Given the description of an element on the screen output the (x, y) to click on. 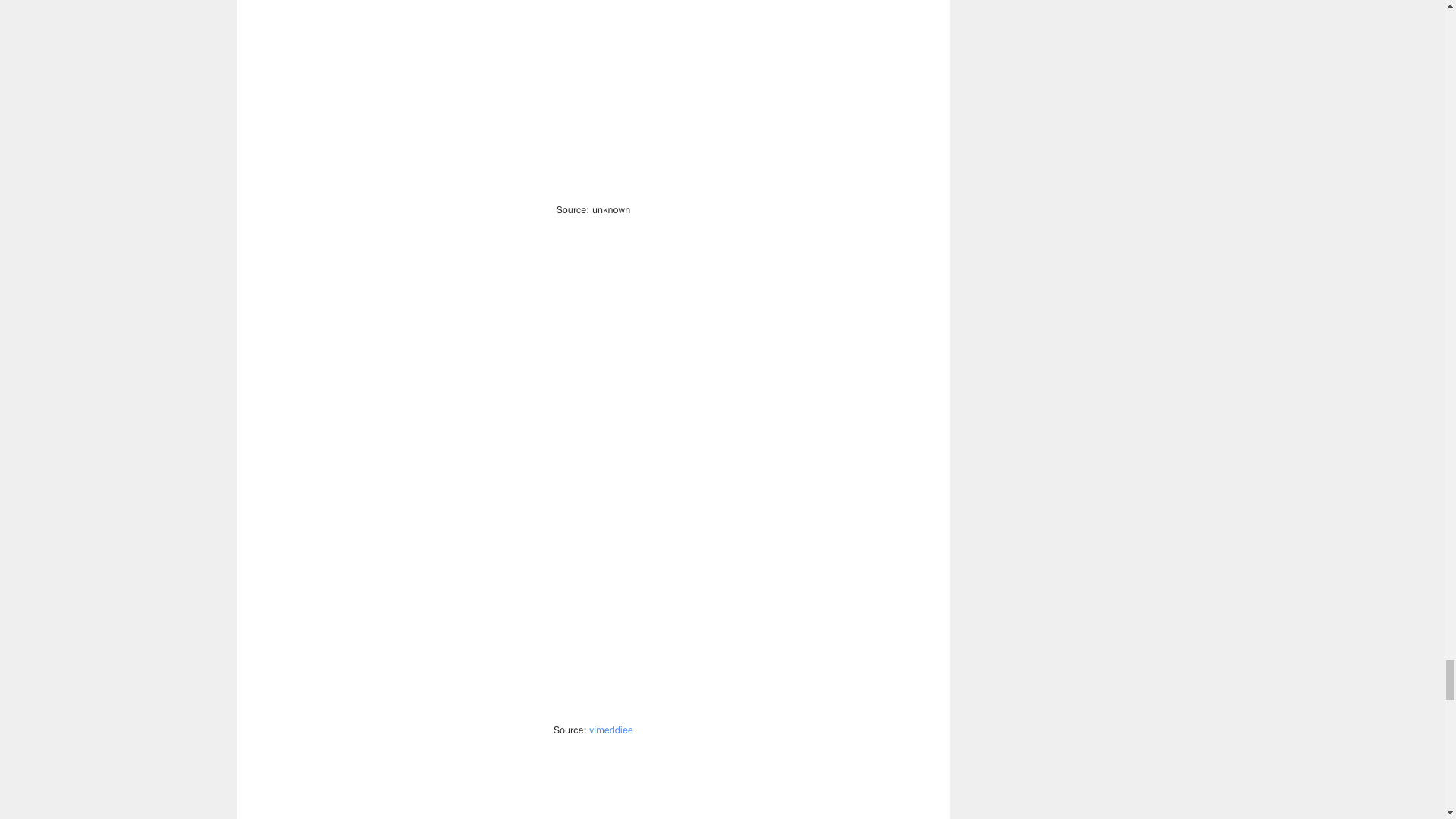
vimeddiee (611, 729)
